Given the description of an element on the screen output the (x, y) to click on. 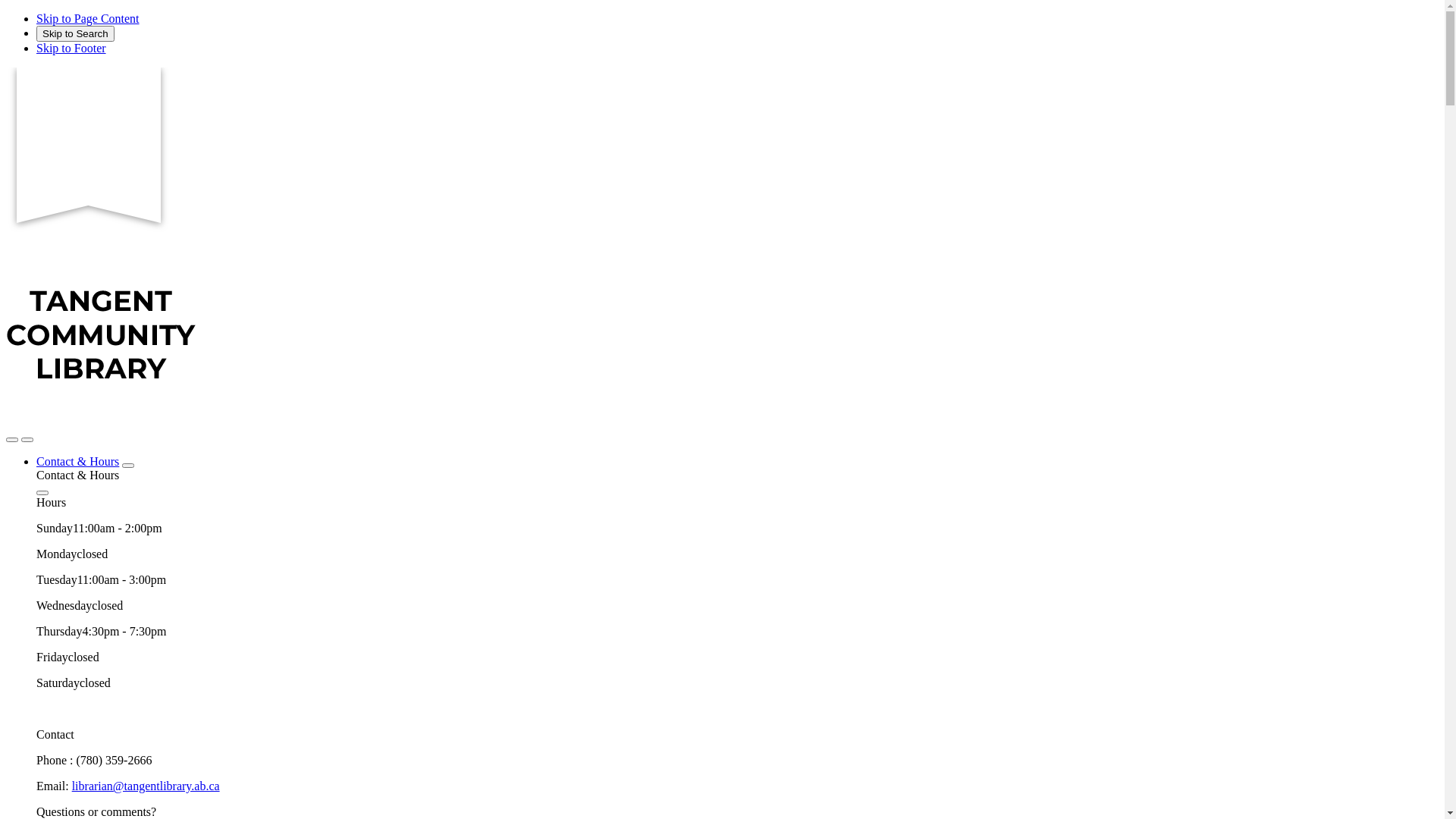
librarian@tangentlibrary.ab.ca Element type: text (145, 785)
Tangent Community Library Element type: hover (100, 421)
Skip to Search Element type: text (75, 33)
Skip to Footer Element type: text (71, 47)
Skip to Page Content Element type: text (87, 18)
Contact & Hours Element type: text (77, 461)
